Given the description of an element on the screen output the (x, y) to click on. 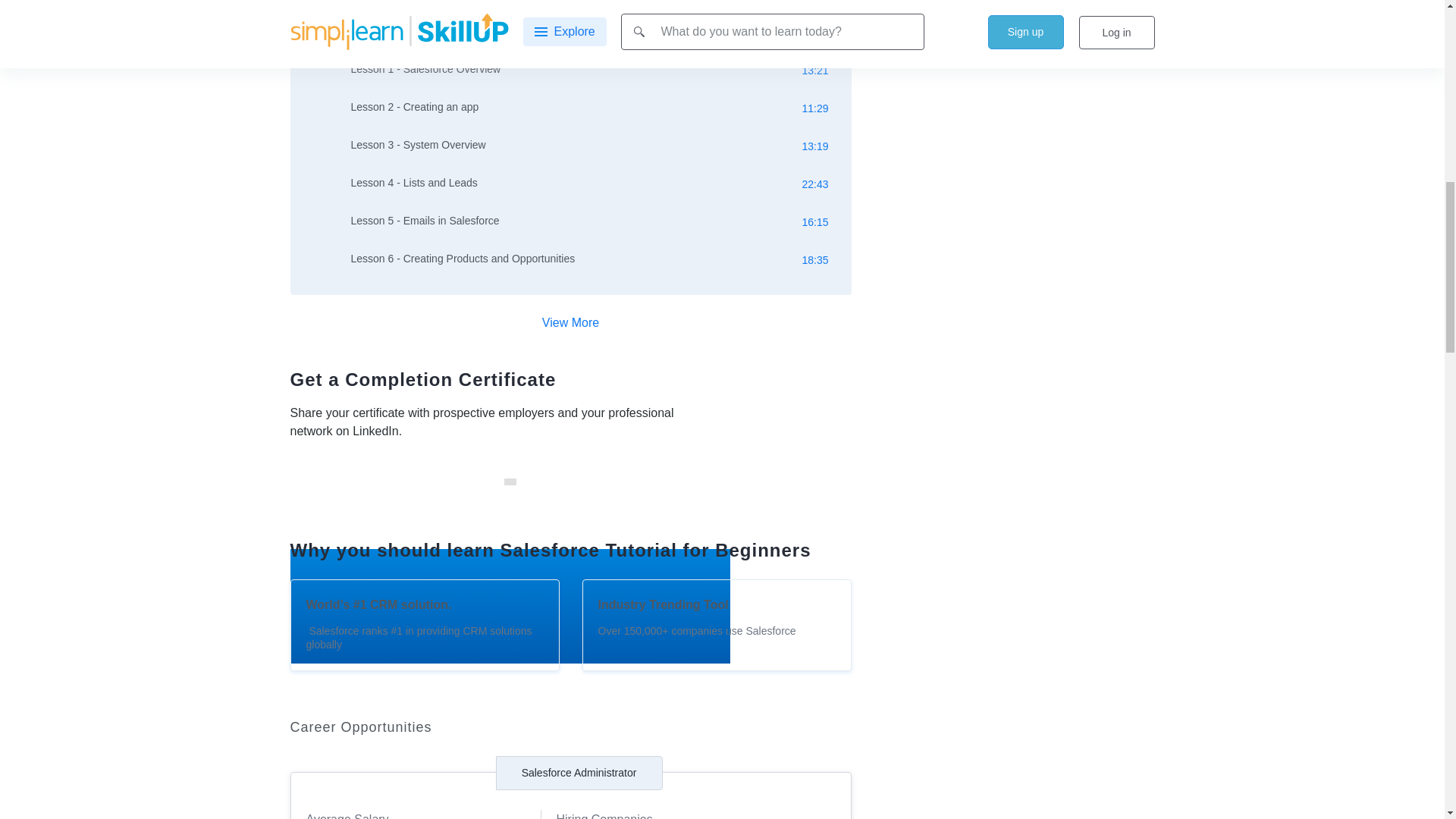
Salesforce Administrator (579, 773)
View More (569, 322)
